Given the description of an element on the screen output the (x, y) to click on. 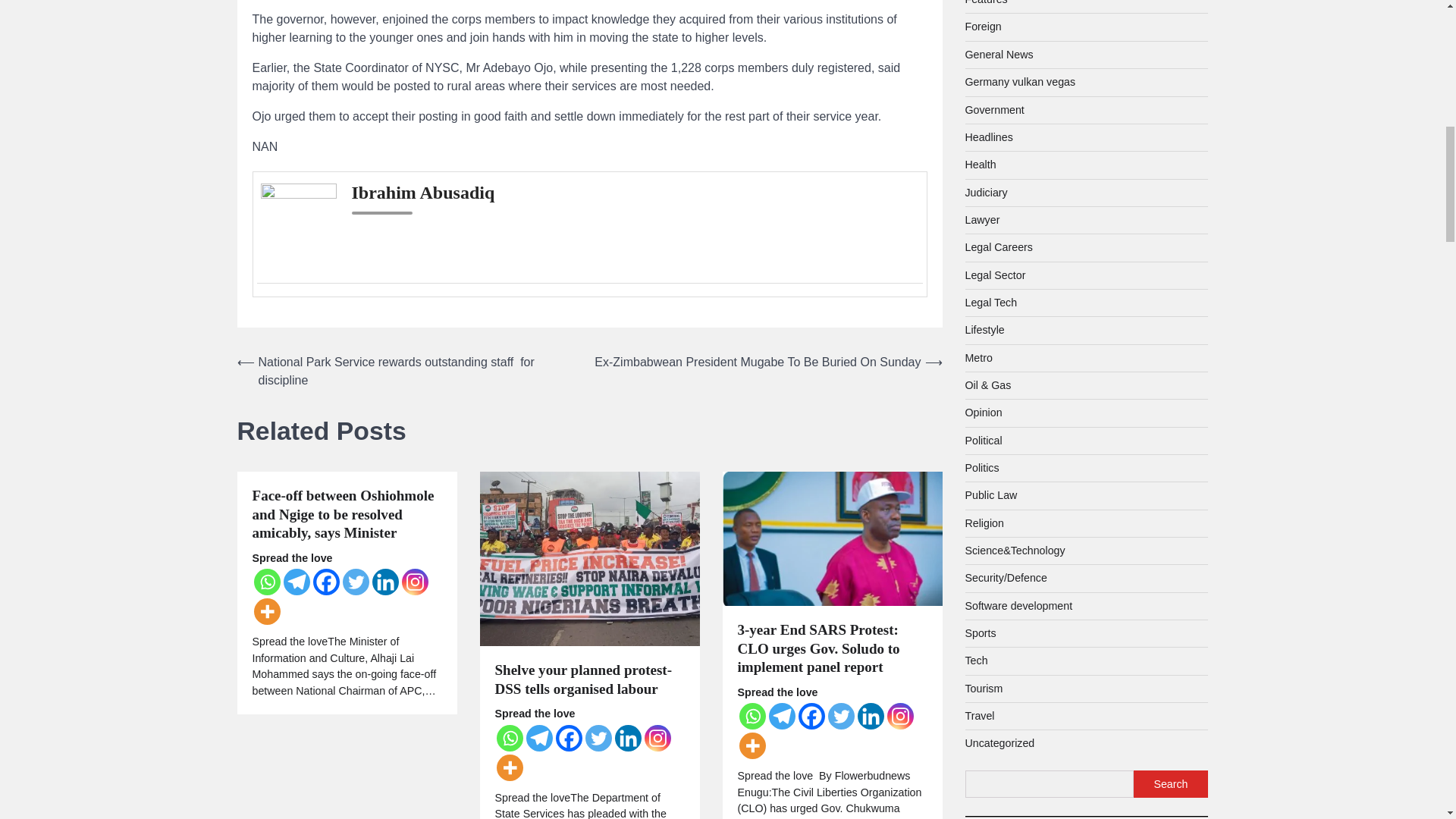
Facebook (326, 581)
Twitter (355, 581)
More (266, 611)
Whatsapp (266, 581)
Telegram (296, 581)
Instagram (414, 581)
Whatsapp (509, 737)
Linkedin (384, 581)
